Given the description of an element on the screen output the (x, y) to click on. 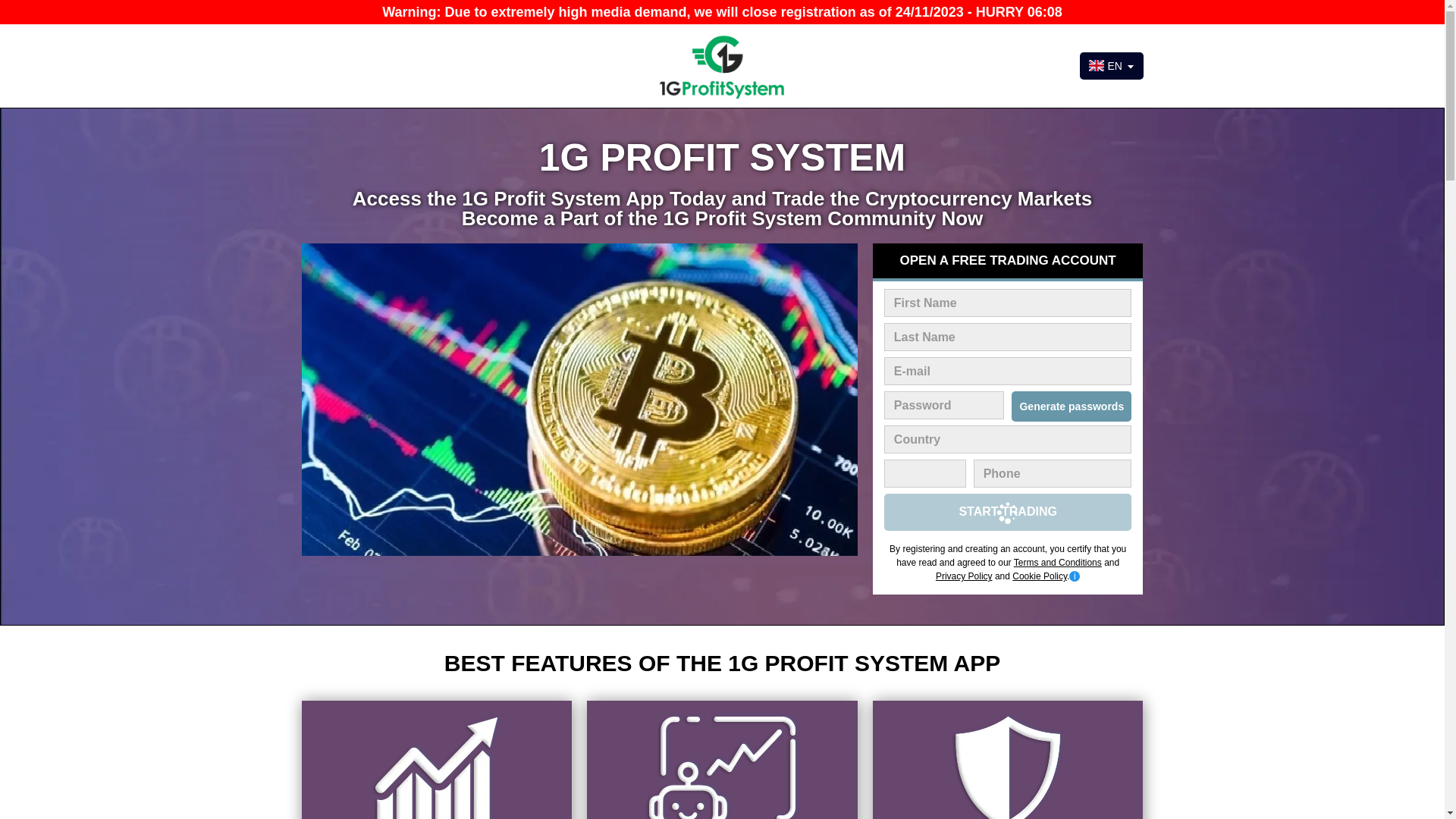
Privacy Policy Element type: text (963, 576)
START TRADING Element type: text (1008, 511)
Terms and Conditions Element type: text (1057, 562)
Cookie Policy Element type: text (1039, 576)
